Given the description of an element on the screen output the (x, y) to click on. 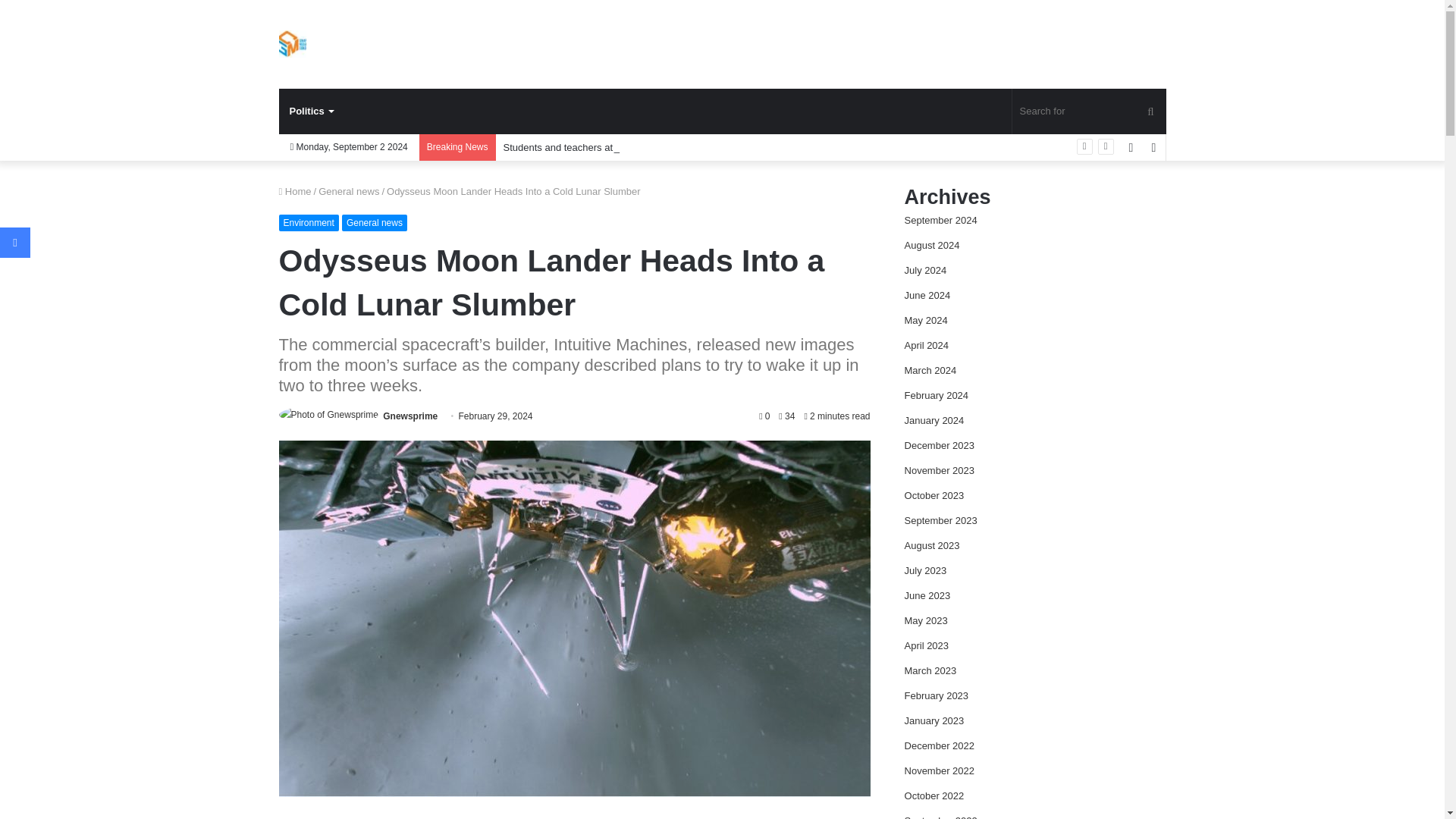
General news (348, 191)
Home (295, 191)
Gnewsprime (410, 416)
Gnewsprime (410, 416)
Environment (309, 222)
Search for (1088, 111)
General news (374, 222)
Gnewsprime (292, 43)
Politics (311, 111)
